Given the description of an element on the screen output the (x, y) to click on. 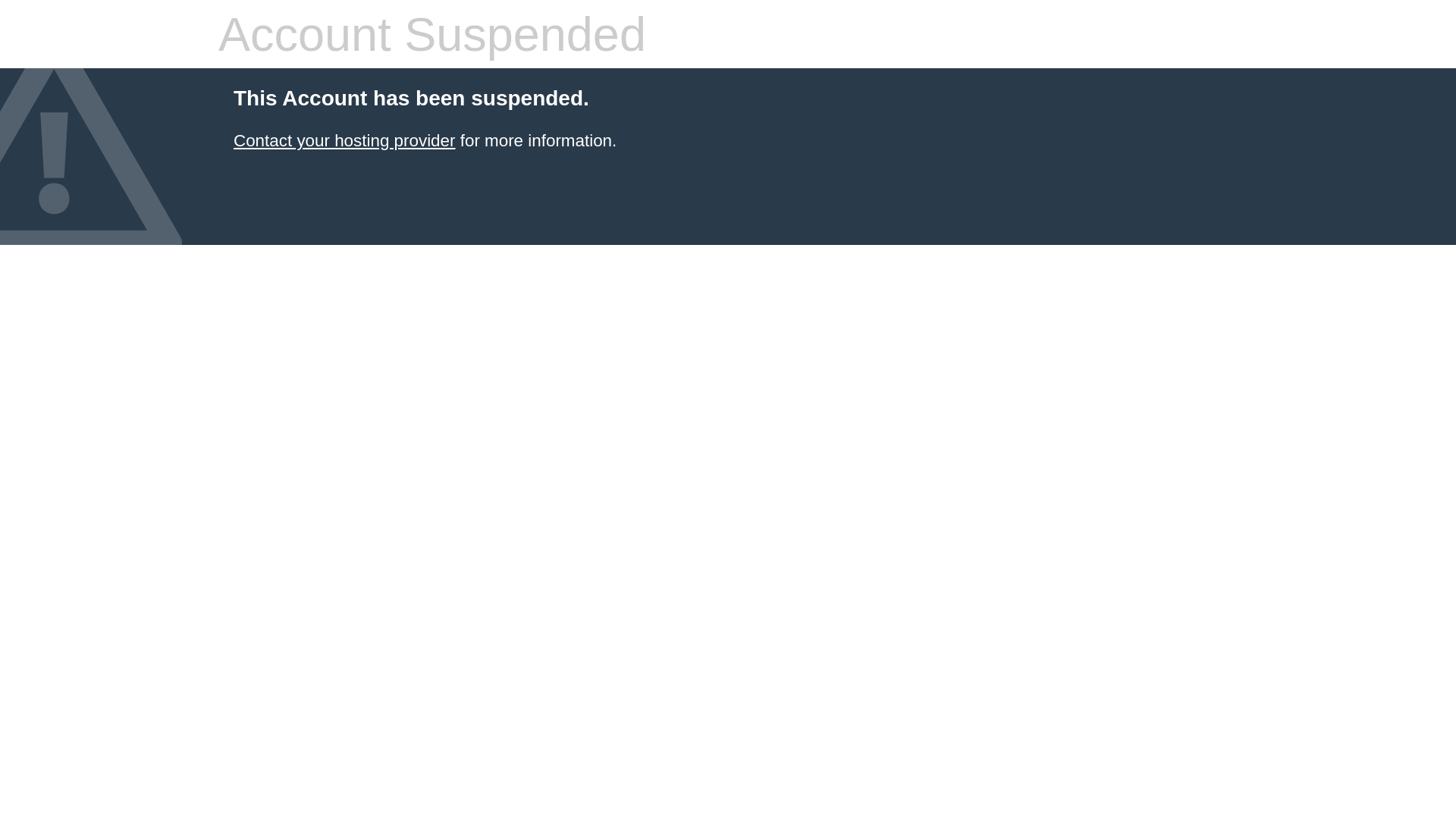
Contact your hosting provider Element type: text (344, 140)
